Given the description of an element on the screen output the (x, y) to click on. 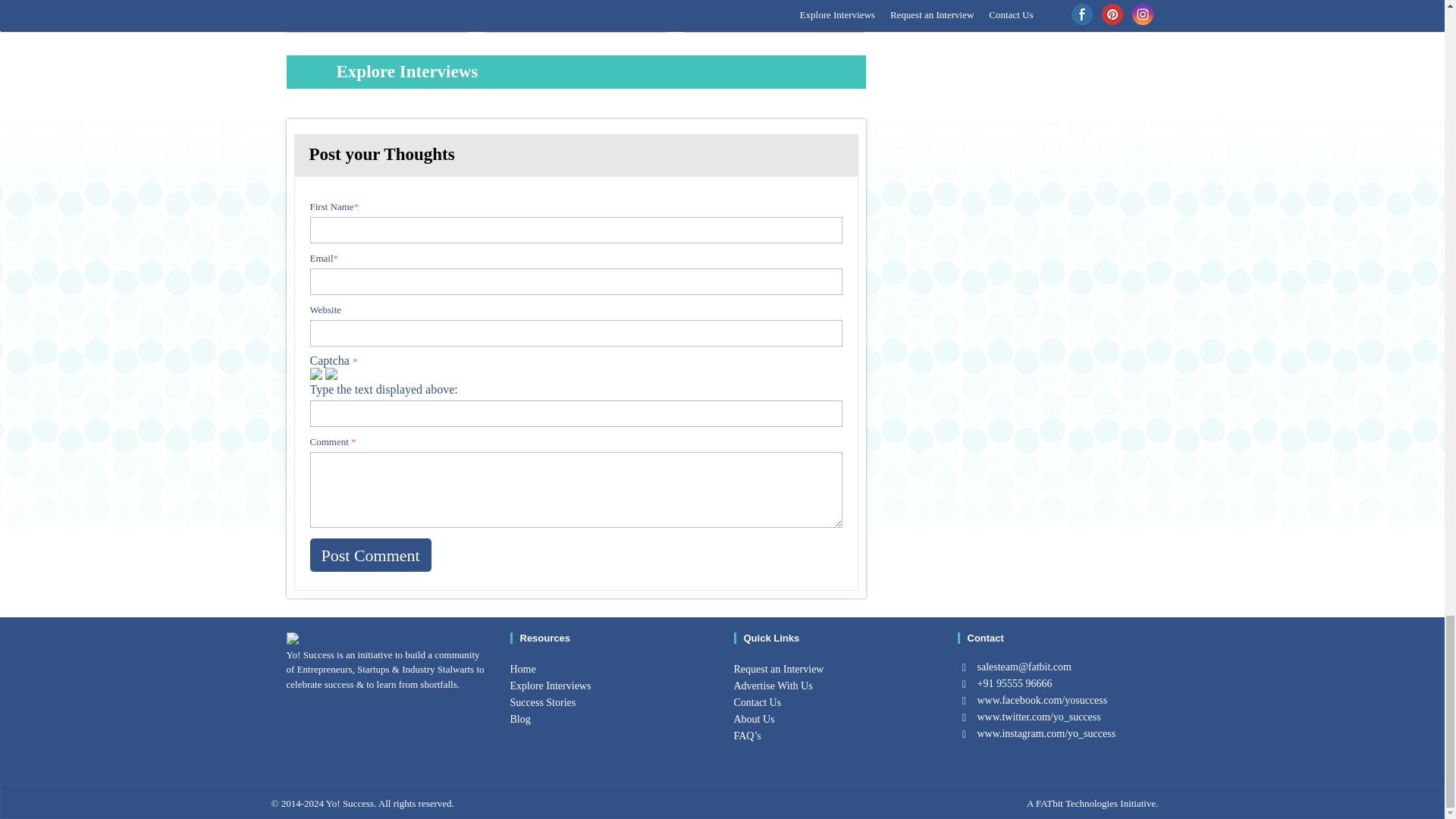
Post Comment (369, 554)
View Interview (617, 12)
View Interview (816, 12)
View Interview (418, 12)
